Given the description of an element on the screen output the (x, y) to click on. 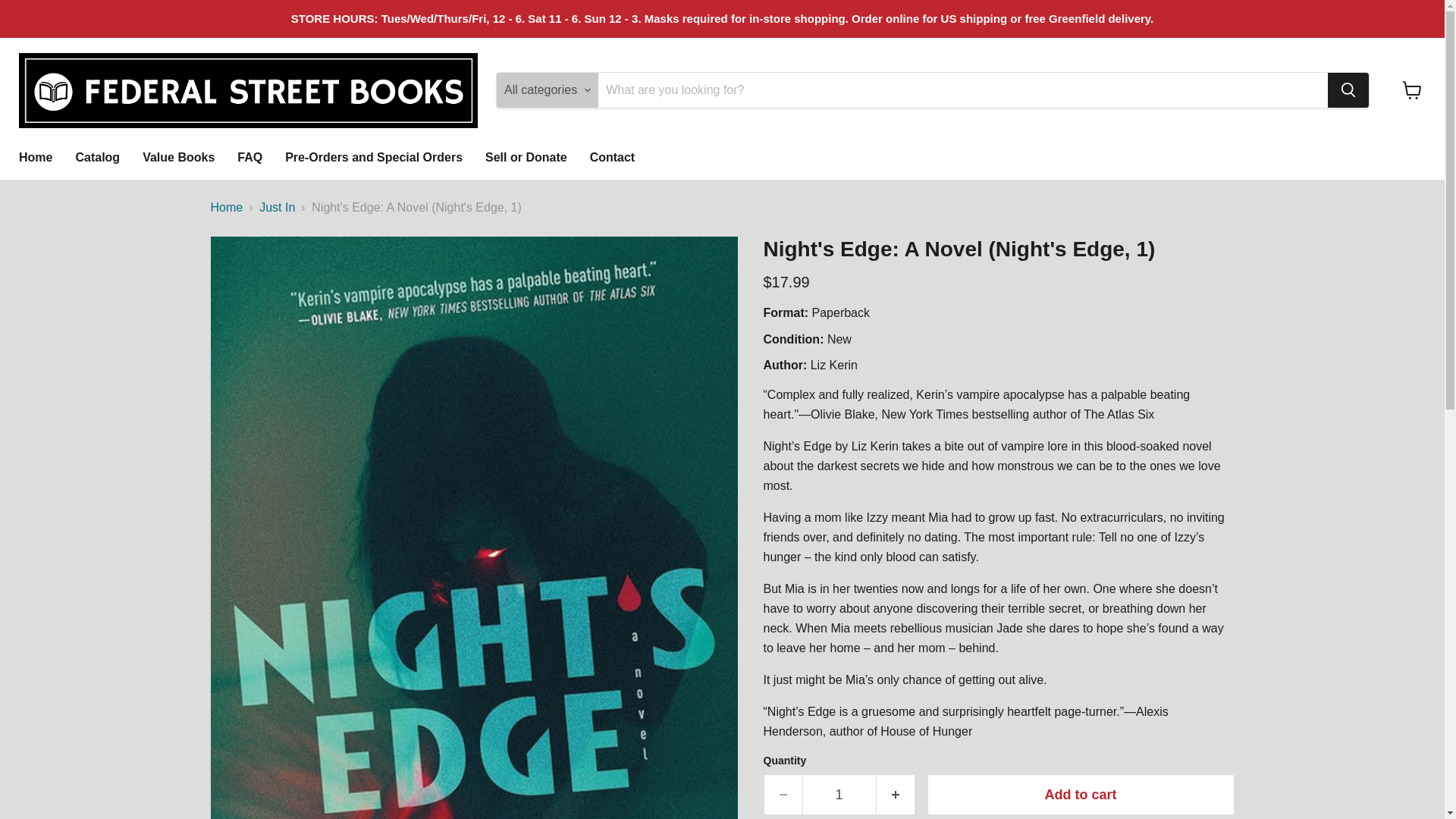
Catalog (97, 157)
Pre-Orders and Special Orders (373, 157)
Sell or Donate (526, 157)
FAQ (249, 157)
Value Books (178, 157)
Home (35, 157)
Contact (612, 157)
1 (839, 794)
Just In (277, 207)
Add to cart (1079, 794)
